Given the description of an element on the screen output the (x, y) to click on. 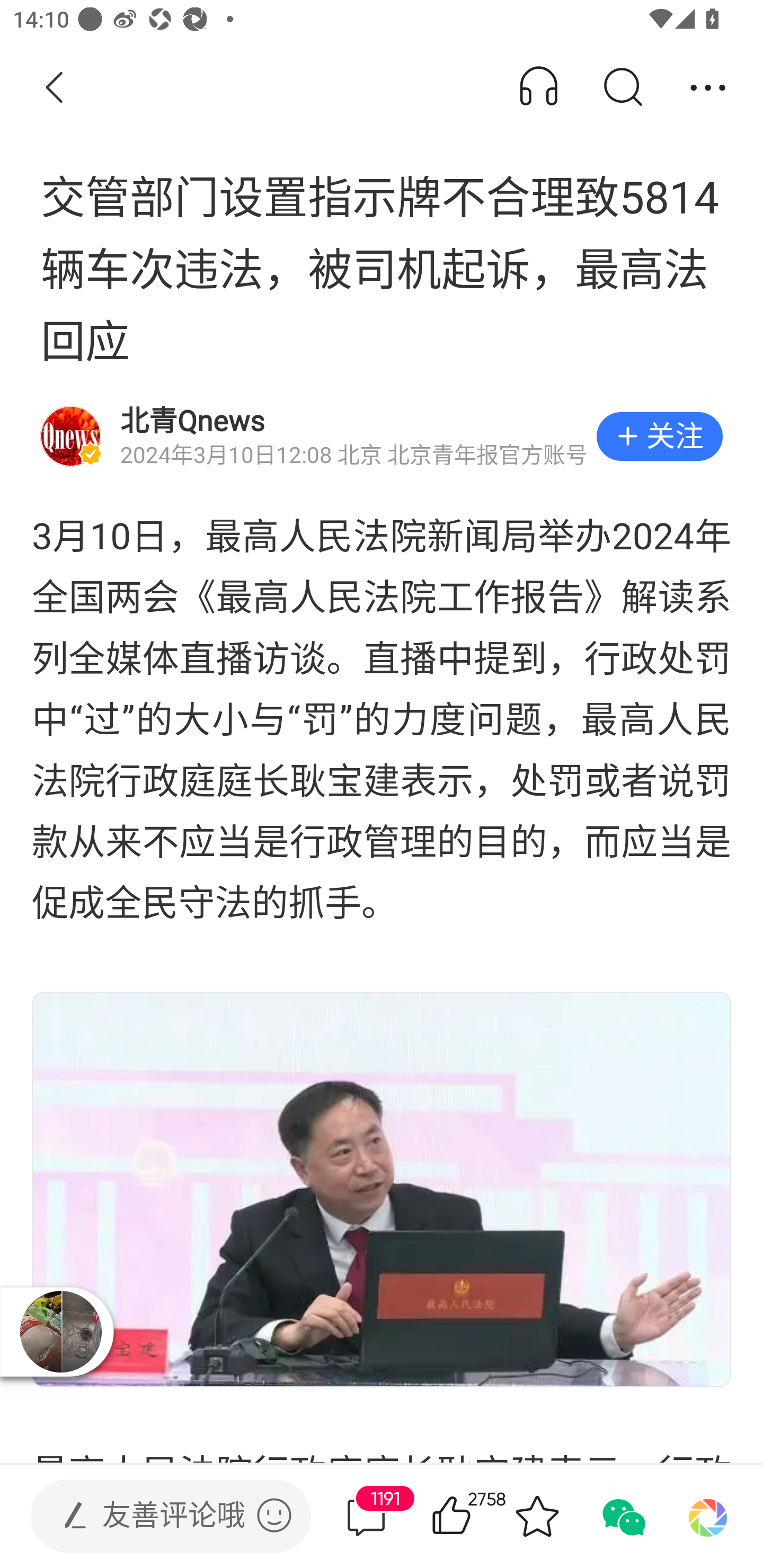
搜索  (622, 87)
分享  (707, 87)
 返回 (54, 87)
北青Qnews 2024年3月10日12:08 北京 北京青年报官方账号  关注 (381, 436)
 关注 (659, 436)
新闻图片 (381, 1188)
播放器 (62, 1331)
发表评论  友善评论哦 发表评论  (155, 1516)
1191评论  1191 评论 (365, 1516)
2758赞 (476, 1516)
收藏  (536, 1516)
分享到微信  (622, 1516)
分享到朋友圈 (707, 1516)
 (274, 1515)
